Given the description of an element on the screen output the (x, y) to click on. 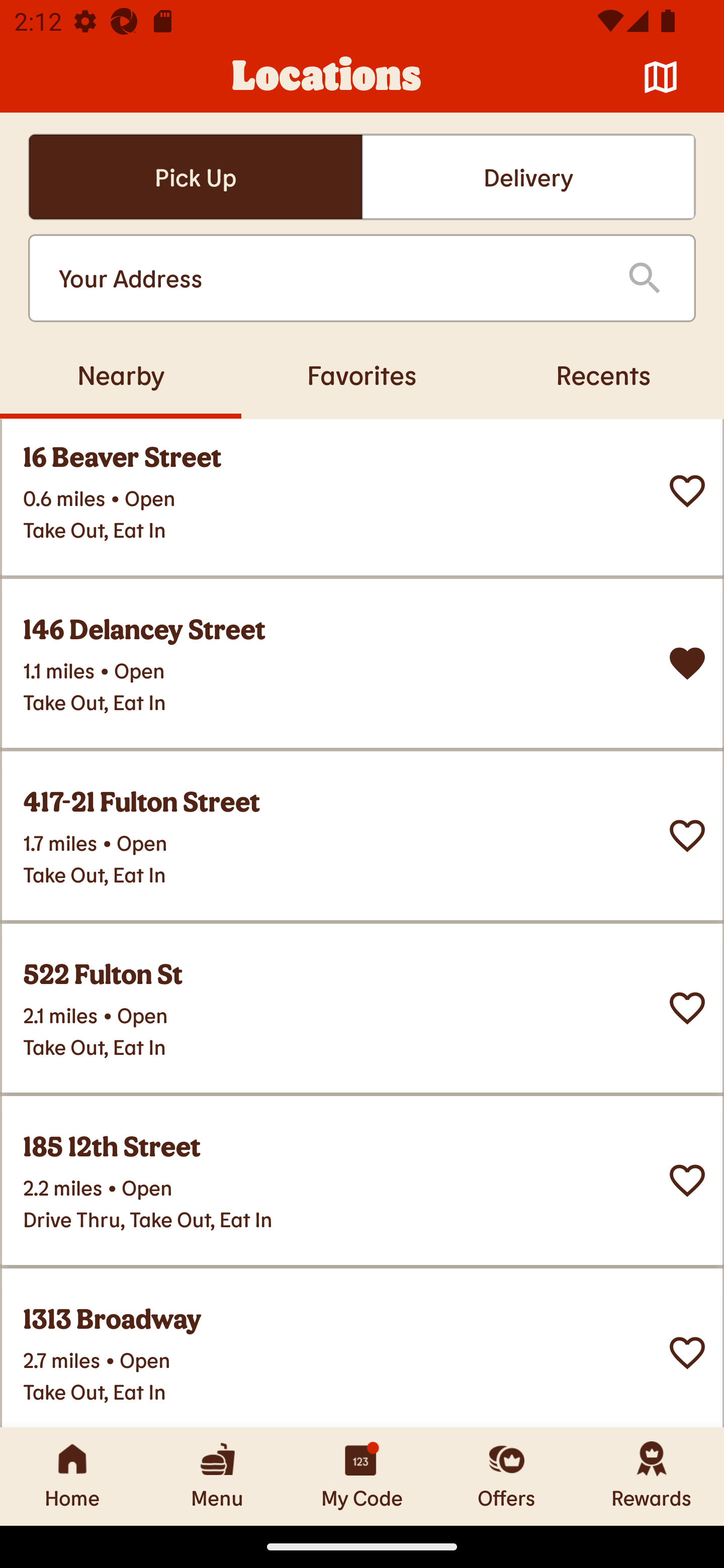
Map 󰦂 (660, 77)
Locations (326, 77)
Pick UpSelected Pick UpSelected Pick Up (195, 176)
Delivery Delivery Delivery (528, 176)
Your Address (327, 277)
Nearby (120, 374)
Favorites (361, 374)
Recents (603, 374)
Set this restaurant as a favorite  (687, 491)
Remove from Favorites?  (687, 663)
Set this restaurant as a favorite  (687, 835)
Set this restaurant as a favorite  (687, 1007)
Set this restaurant as a favorite  (687, 1179)
Set this restaurant as a favorite  (687, 1352)
Home (72, 1475)
Menu (216, 1475)
My Code (361, 1475)
Offers (506, 1475)
Rewards (651, 1475)
